Given the description of an element on the screen output the (x, y) to click on. 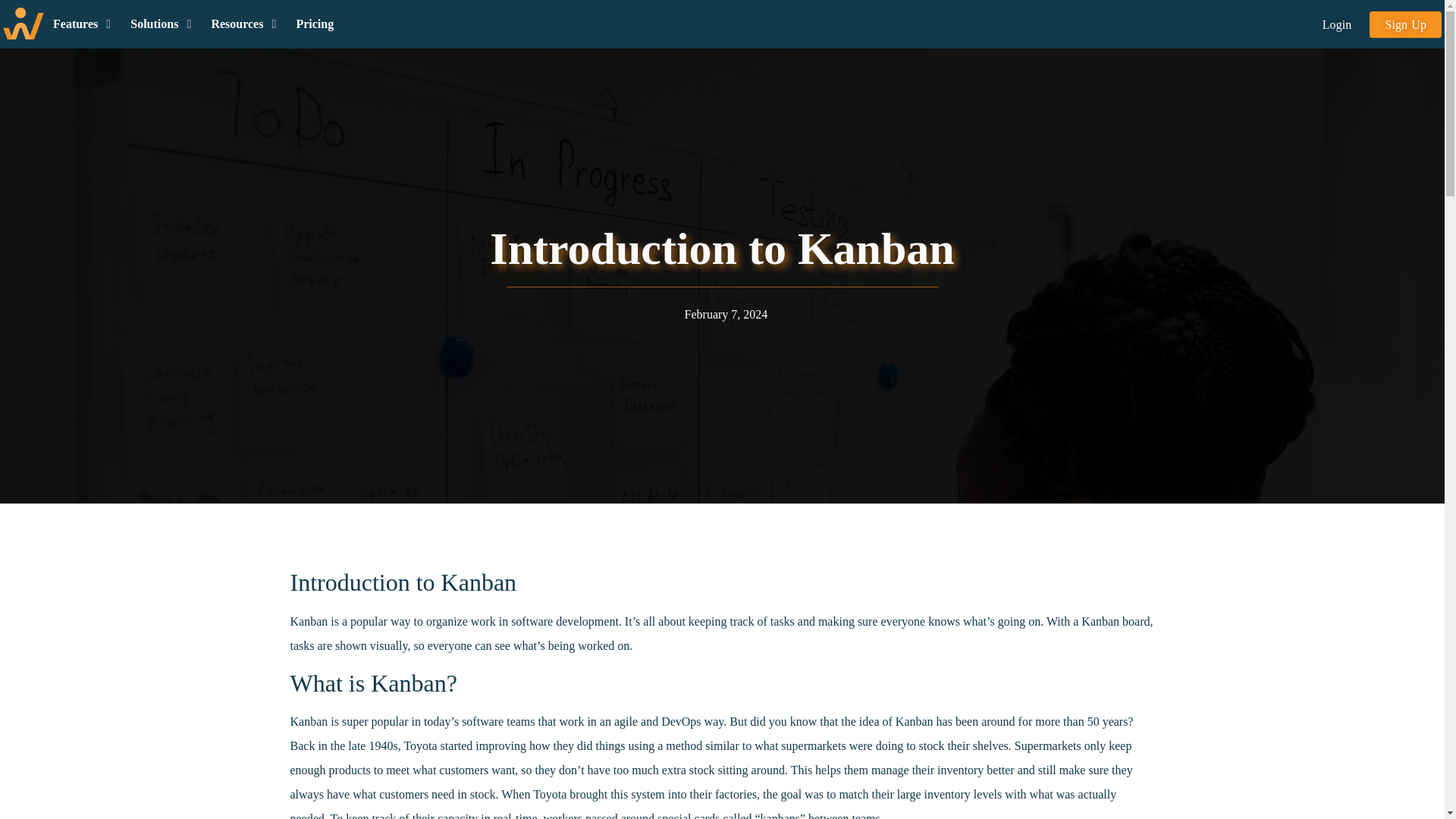
Pricing (314, 24)
Resources (237, 24)
Solutions (154, 24)
Login (1337, 23)
Features (74, 24)
Sign Up (1405, 23)
